Given the description of an element on the screen output the (x, y) to click on. 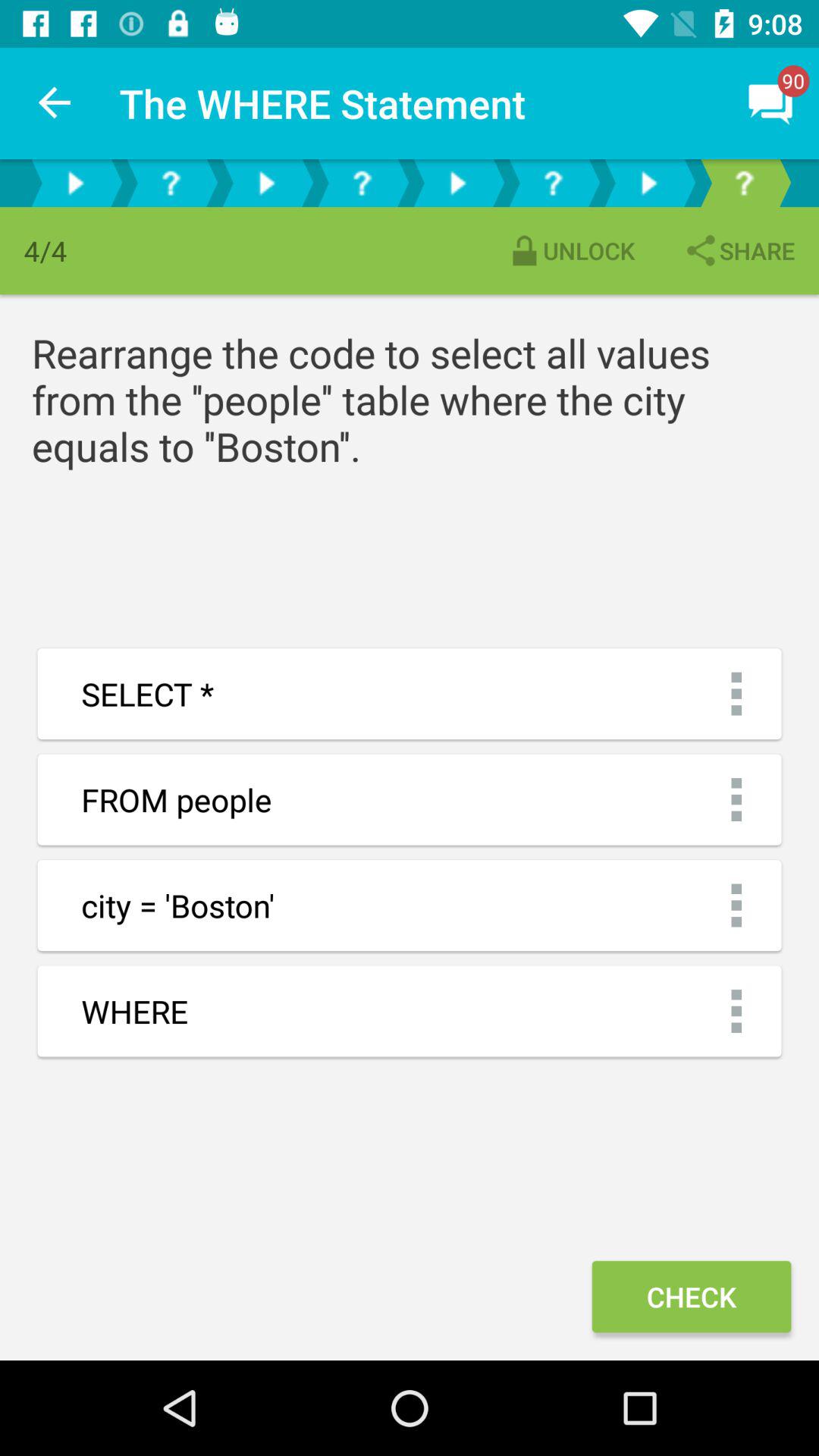
more info (170, 183)
